Given the description of an element on the screen output the (x, y) to click on. 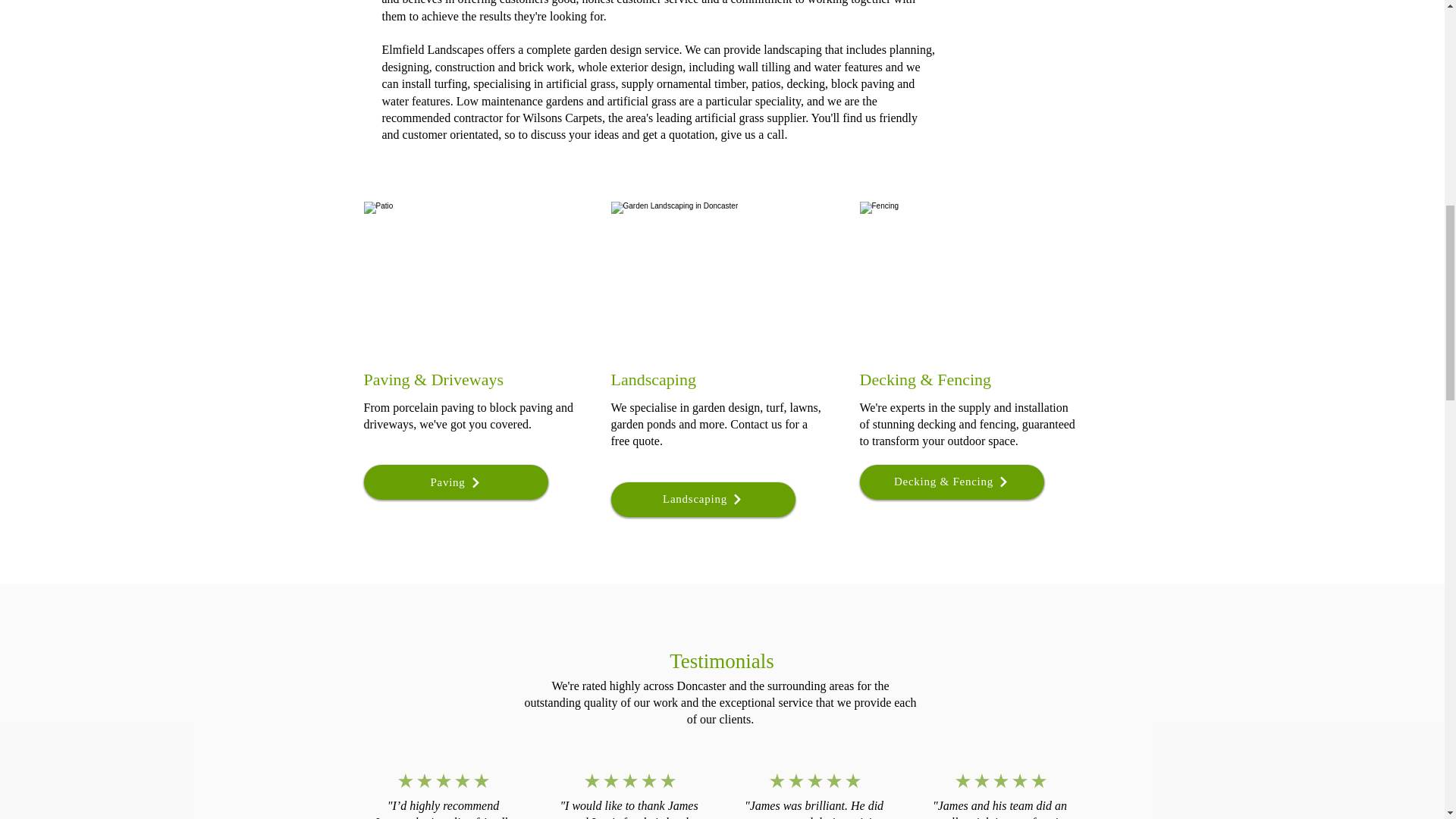
Paving (456, 482)
Landscaping (702, 499)
